Given the description of an element on the screen output the (x, y) to click on. 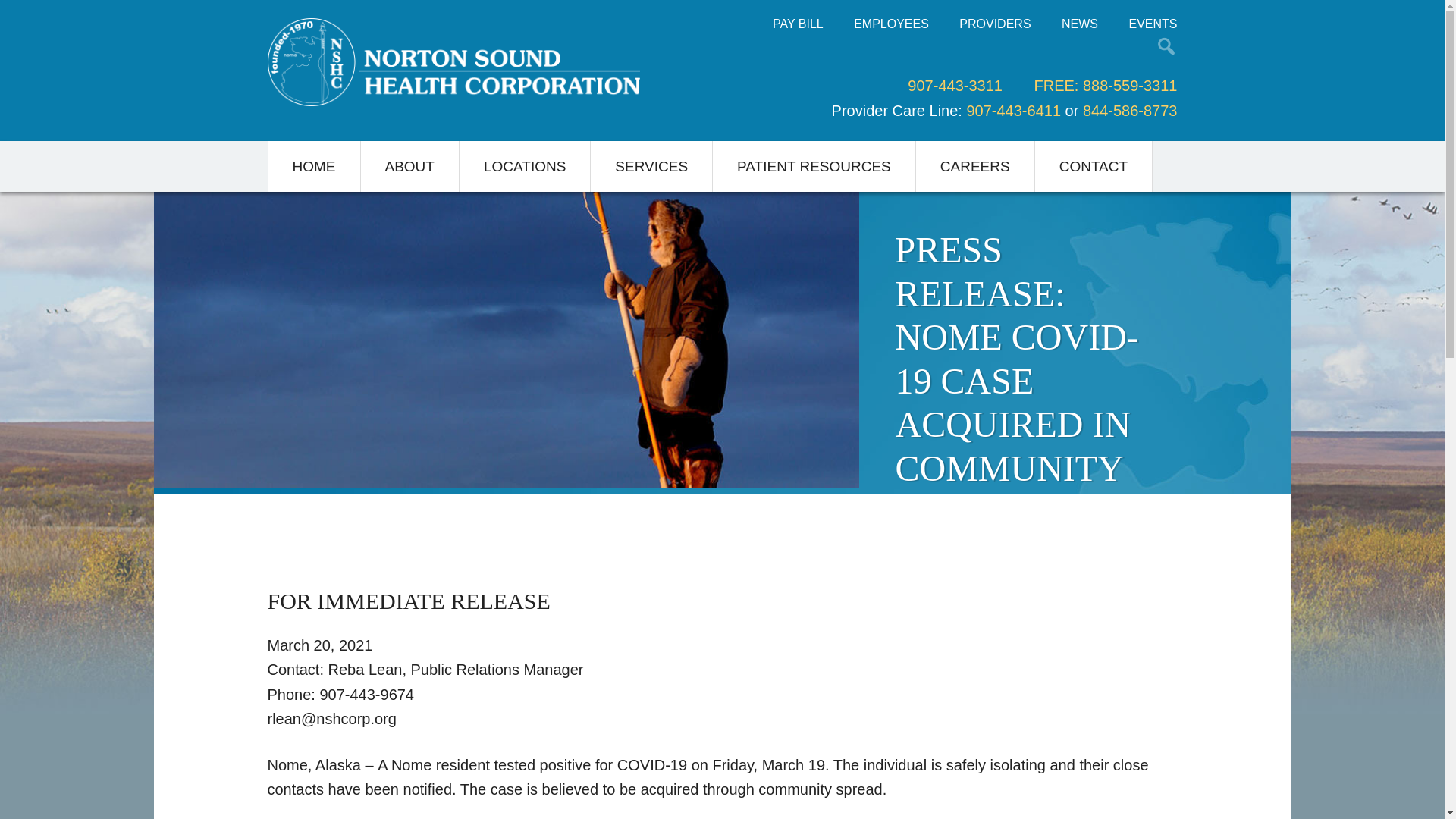
ABOUT (410, 165)
EVENTS (1152, 24)
FREE: 888-559-3311 (1104, 85)
LOCATIONS (525, 165)
PAY BILL (798, 24)
907-443-6411 (1013, 109)
HOME (314, 165)
844-586-8773 (1130, 109)
SERVICES (652, 165)
Norton Sound Health Corporation (452, 62)
